Given the description of an element on the screen output the (x, y) to click on. 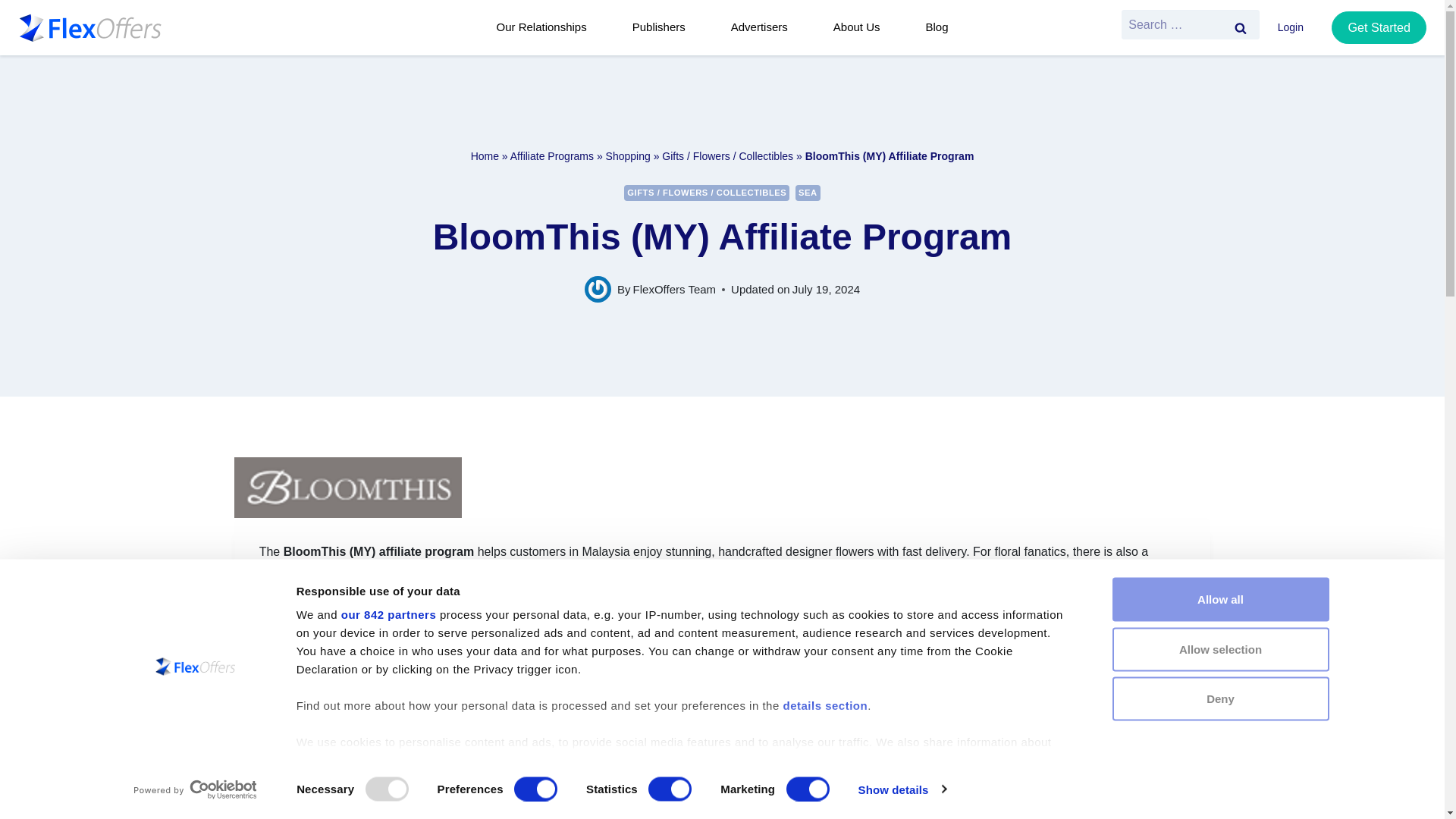
Search (1240, 27)
Search (1240, 27)
our 842 partners (388, 614)
details section (825, 705)
Show details (900, 789)
